Given the description of an element on the screen output the (x, y) to click on. 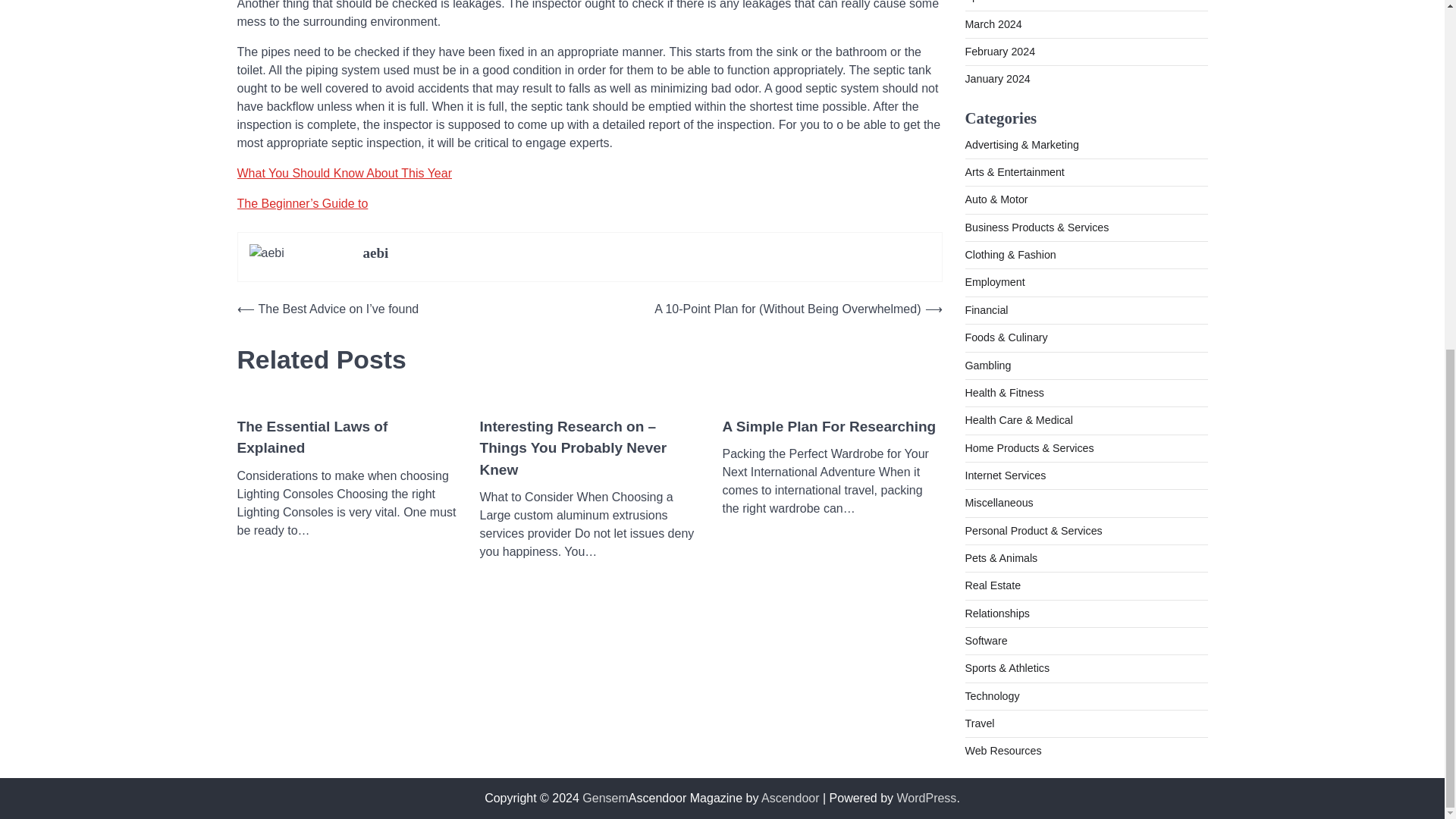
Gambling (986, 365)
Employment (994, 282)
April 2024 (988, 1)
March 2024 (992, 24)
January 2024 (996, 78)
A Simple Plan For Researching (829, 427)
What You Should Know About This Year (343, 173)
February 2024 (999, 51)
The Essential Laws of Explained (346, 437)
Financial (985, 309)
